Given the description of an element on the screen output the (x, y) to click on. 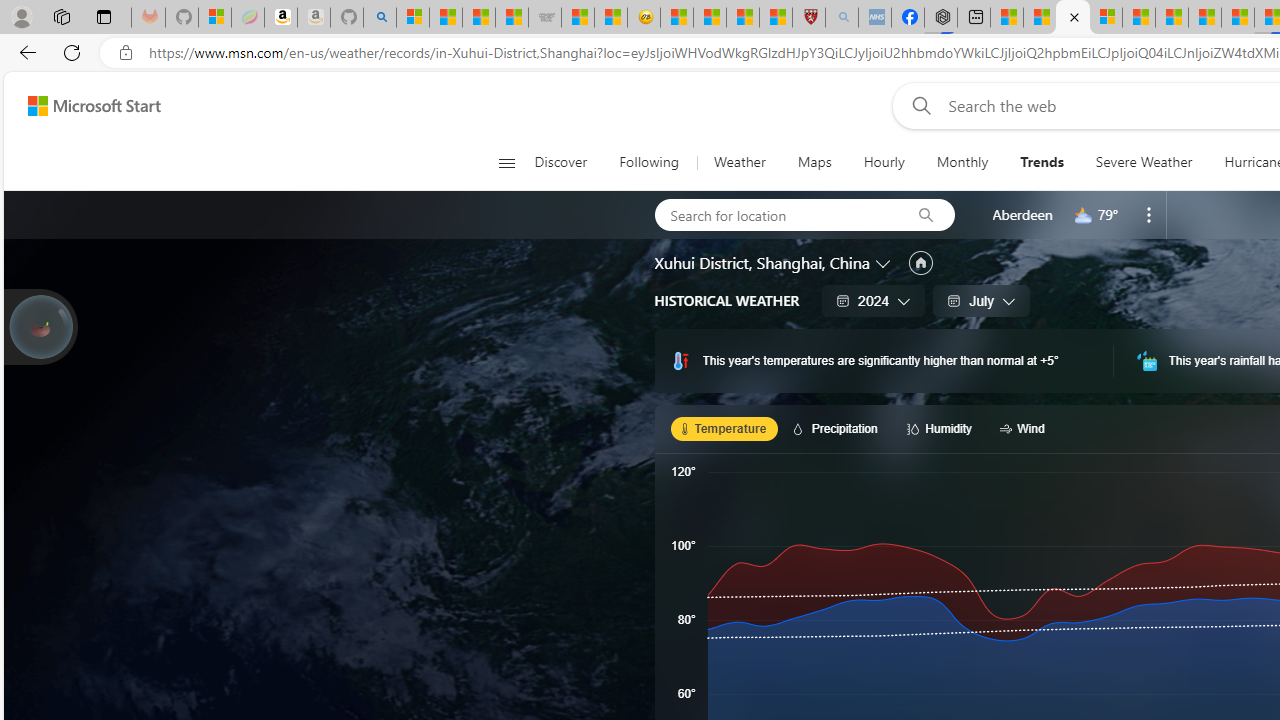
Xuhui District, Shanghai, China (762, 263)
Aberdeen (1022, 214)
Trends (1041, 162)
12 Popular Science Lies that Must be Corrected (776, 17)
